Given the description of an element on the screen output the (x, y) to click on. 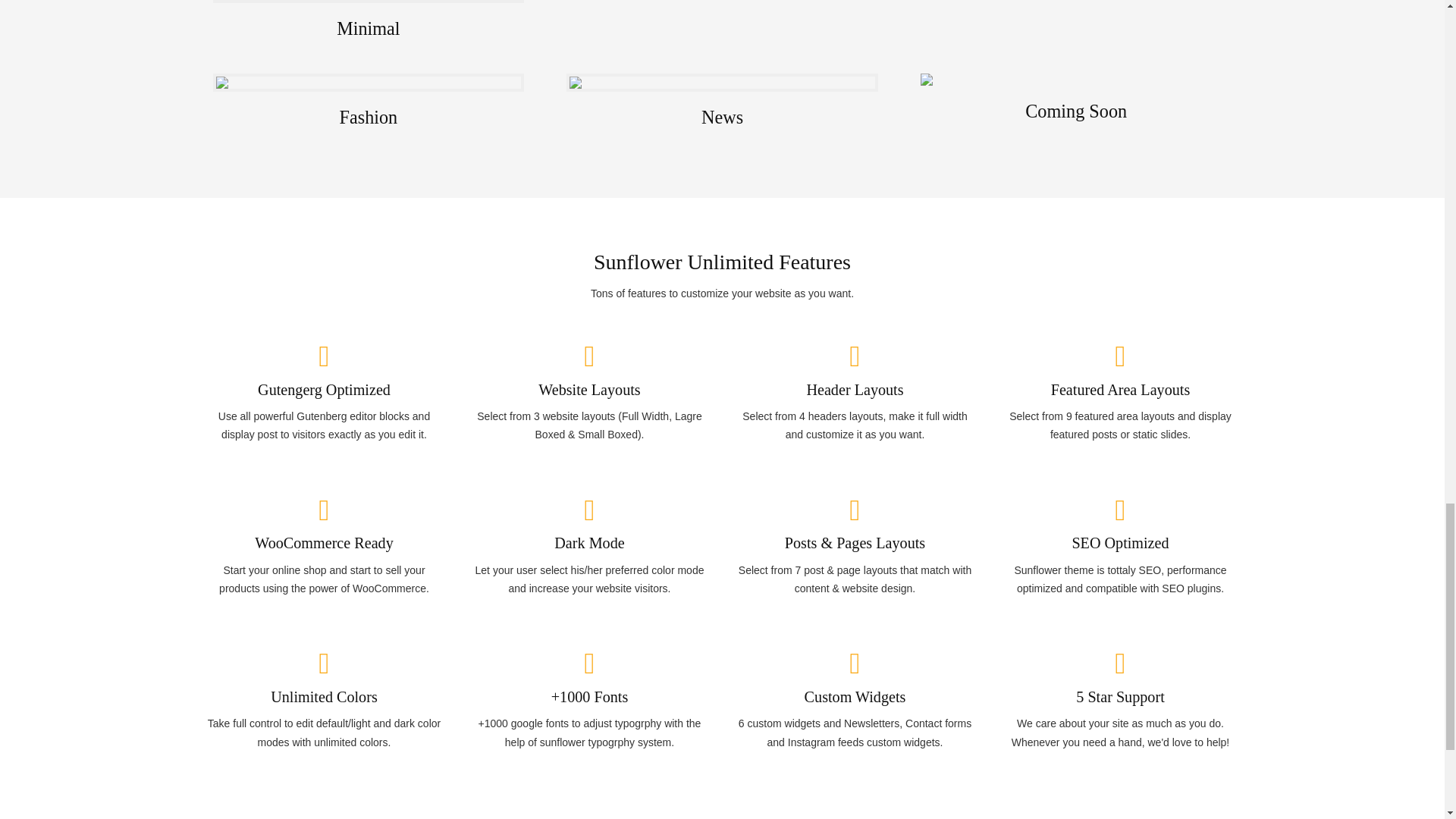
Fashion (368, 104)
News (721, 104)
Minimal (368, 24)
Creative (1075, 24)
Classic (721, 24)
